Given the description of an element on the screen output the (x, y) to click on. 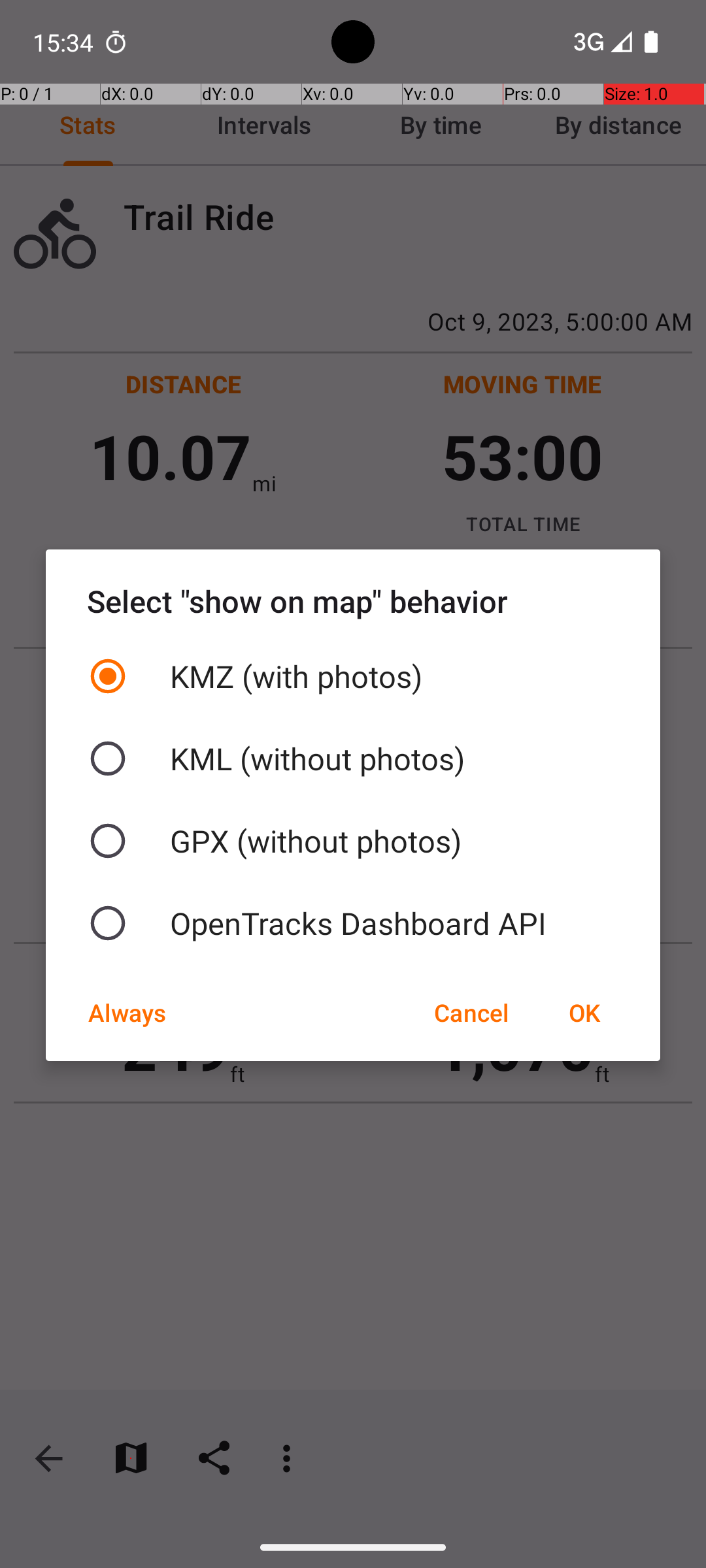
Select "show on map" behavior Element type: android.widget.TextView (352, 600)
KMZ (with photos) Element type: android.widget.CheckedTextView (352, 676)
KML (without photos) Element type: android.widget.CheckedTextView (352, 758)
GPX (without photos) Element type: android.widget.CheckedTextView (352, 840)
OpenTracks Dashboard API Element type: android.widget.CheckedTextView (352, 923)
